Given the description of an element on the screen output the (x, y) to click on. 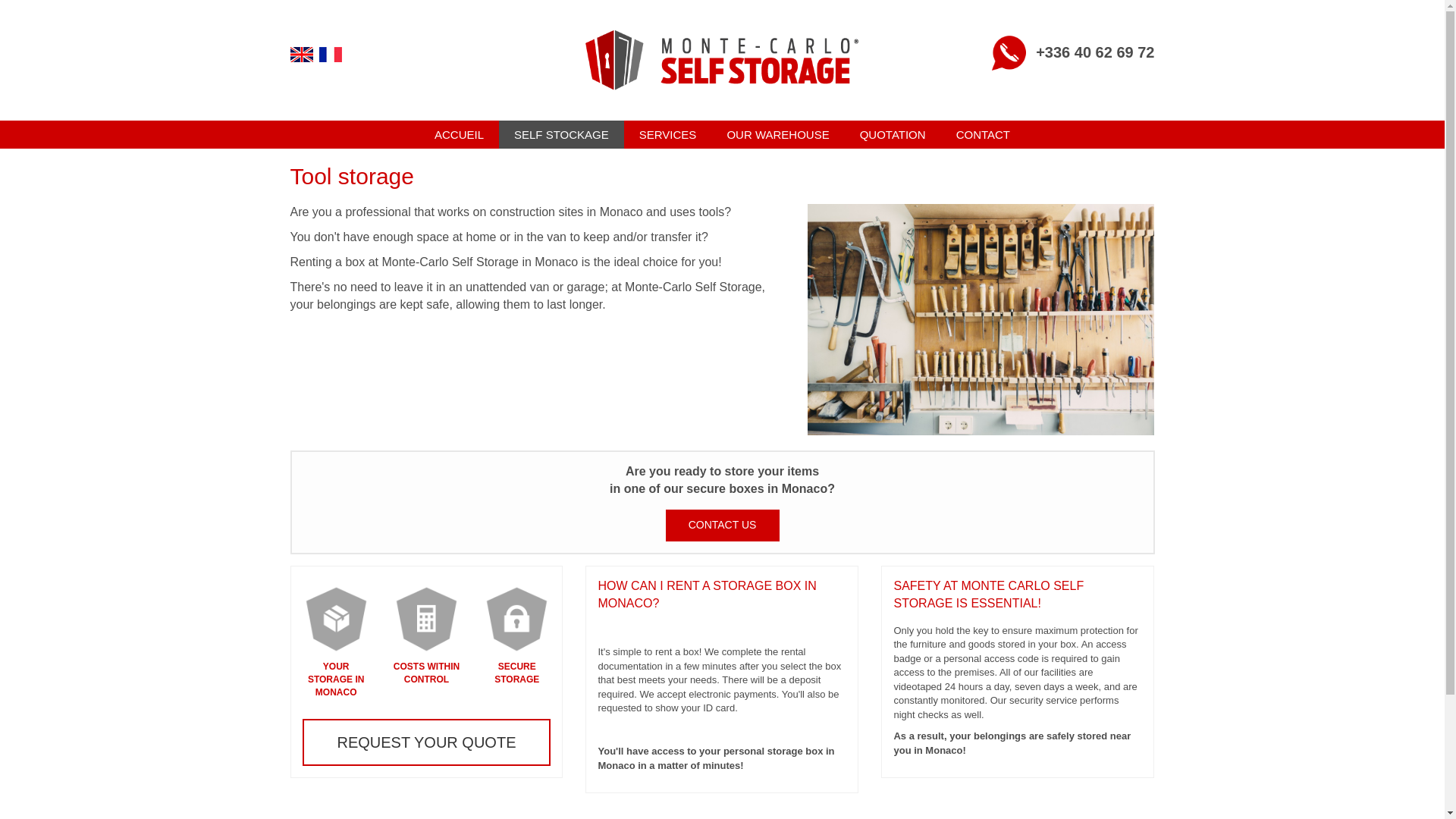
SELF STOCKAGE (561, 134)
ACCUEIL (459, 134)
